Given the description of an element on the screen output the (x, y) to click on. 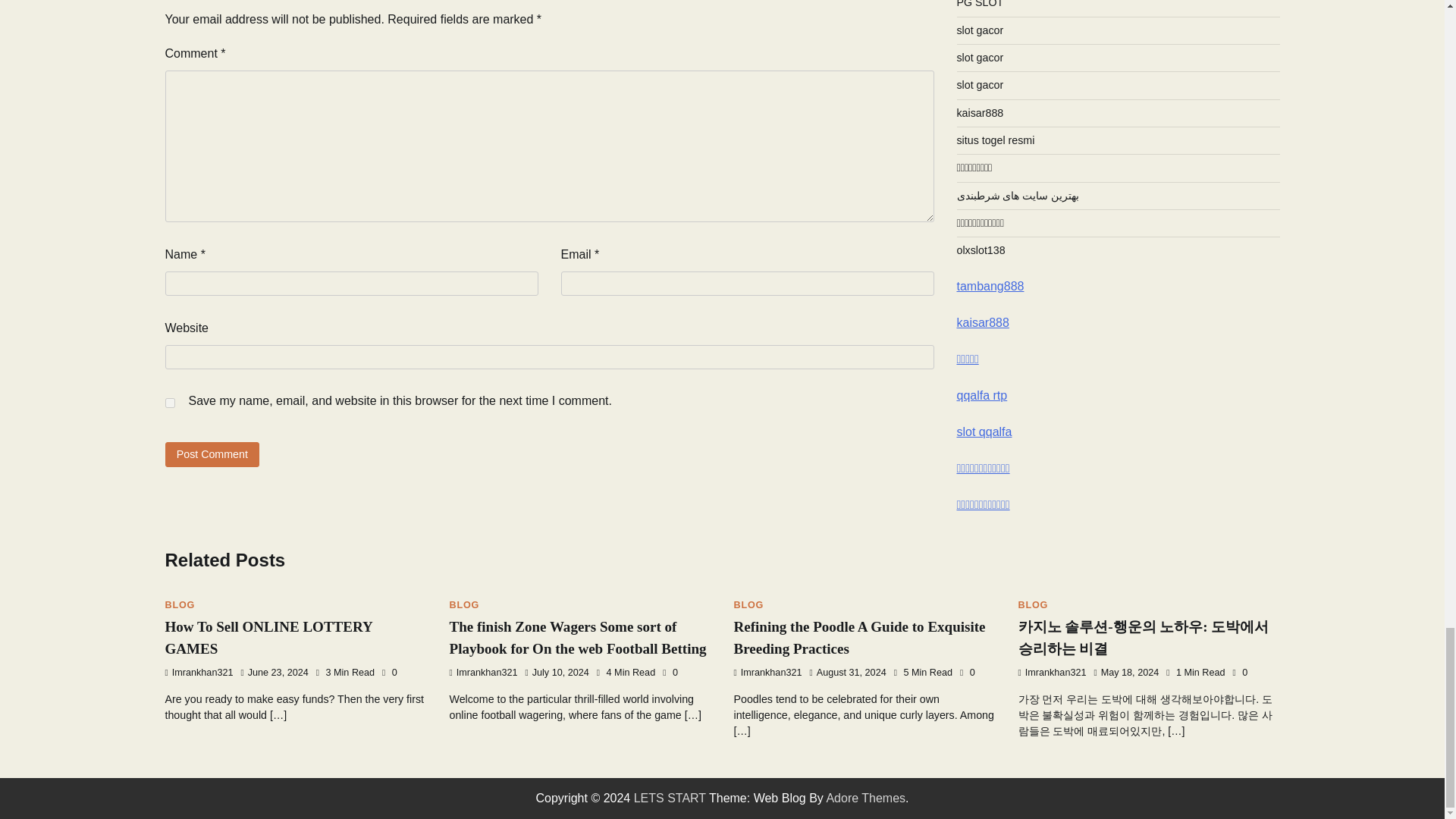
yes (169, 402)
Post Comment (212, 454)
Post Comment (212, 454)
